Given the description of an element on the screen output the (x, y) to click on. 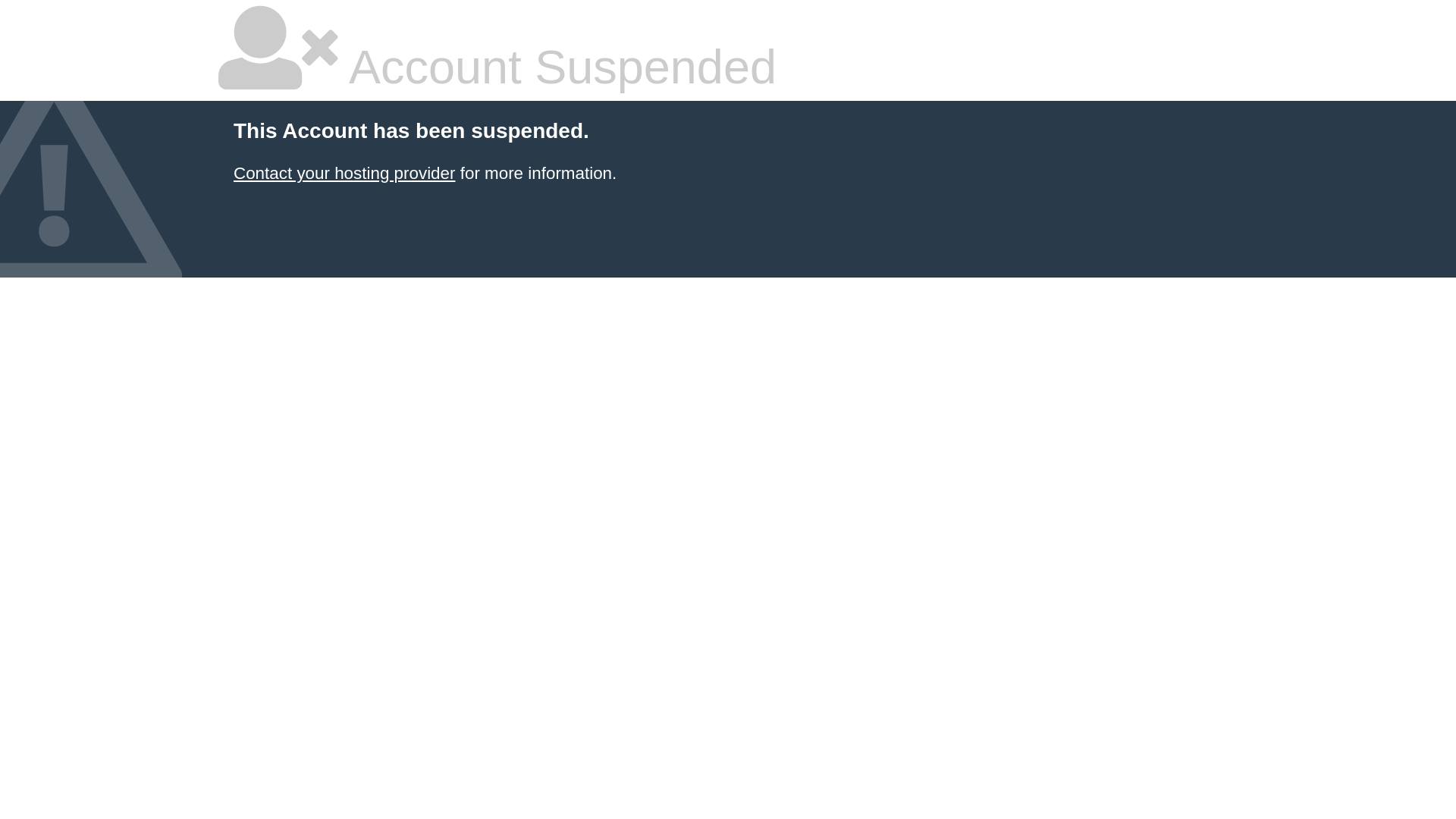
Contact your hosting provider Element type: text (344, 172)
